Given the description of an element on the screen output the (x, y) to click on. 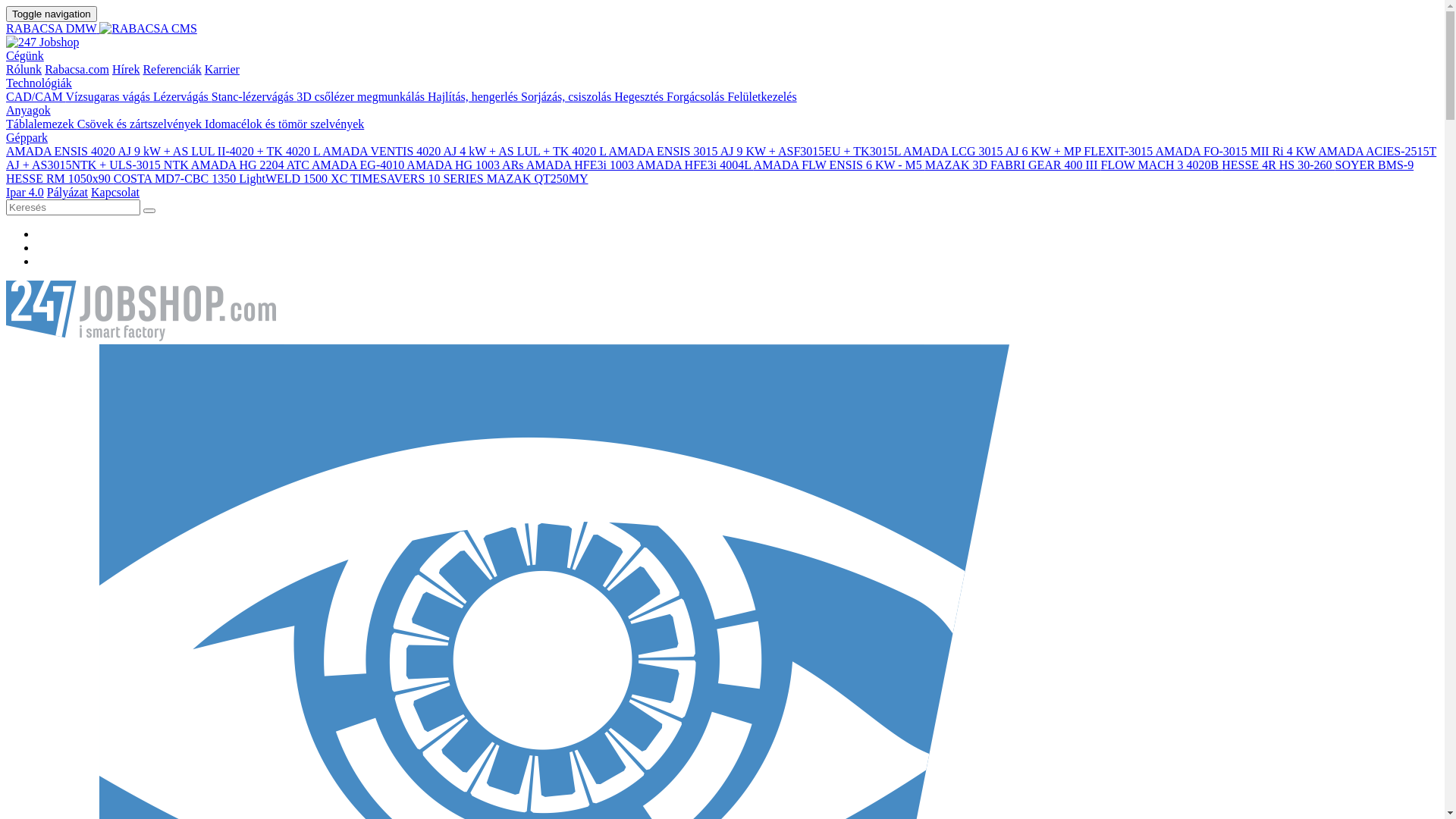
AMADA FLW ENSIS 6 KW - M5 Element type: text (839, 164)
AMADA FO-3015 MII Ri 4 KW Element type: text (1235, 150)
HESSE RM 1050x90 Element type: text (59, 178)
Karrier Element type: text (221, 68)
MAZAK QT250MY Element type: text (537, 178)
Toggle navigation Element type: text (51, 13)
AMADA HFE3i 1003 Element type: text (581, 164)
AMADA ACIES-2515T AJ + AS3015NTK + ULS-3015 NTK Element type: text (721, 157)
Anyagok Element type: text (28, 109)
COSTA MD7-CBC 1350 Element type: text (175, 178)
AMADA HG 1003 ARs Element type: text (465, 164)
AMADA EG-4010 Element type: text (358, 164)
AMADA HG 2204 ATC Element type: text (251, 164)
HESSE 4R HS 30-260 Element type: text (1277, 164)
FLOW MACH 3 4020B Element type: text (1161, 164)
TIMESAVERS 10 SERIES Element type: text (418, 178)
Kapcsolat Element type: text (115, 191)
AMADA ENSIS 3015 AJ 9 KW + ASF3015EU + TK3015L Element type: text (755, 150)
RABACSA DMW Element type: text (722, 42)
AMADA ENSIS 4020 AJ 9 kW + AS LUL II-4020 + TK 4020 L Element type: text (164, 150)
SOYER BMS-9 Element type: text (1374, 164)
AMADA HFE3i 4004L Element type: text (694, 164)
Ipar 4.0 Element type: text (24, 191)
AMADA VENTIS 4020 AJ 4 kW + AS LUL + TK 4020 L Element type: text (465, 150)
MAZAK 3D FABRI GEAR 400 III Element type: text (1013, 164)
LightWELD 1500 XC Element type: text (294, 178)
CAD/CAM Element type: text (35, 96)
Rabacsa.com Element type: text (76, 68)
AMADA LCG 3015 AJ 6 KW + MP FLEXIT-3015 Element type: text (1028, 150)
